Given the description of an element on the screen output the (x, y) to click on. 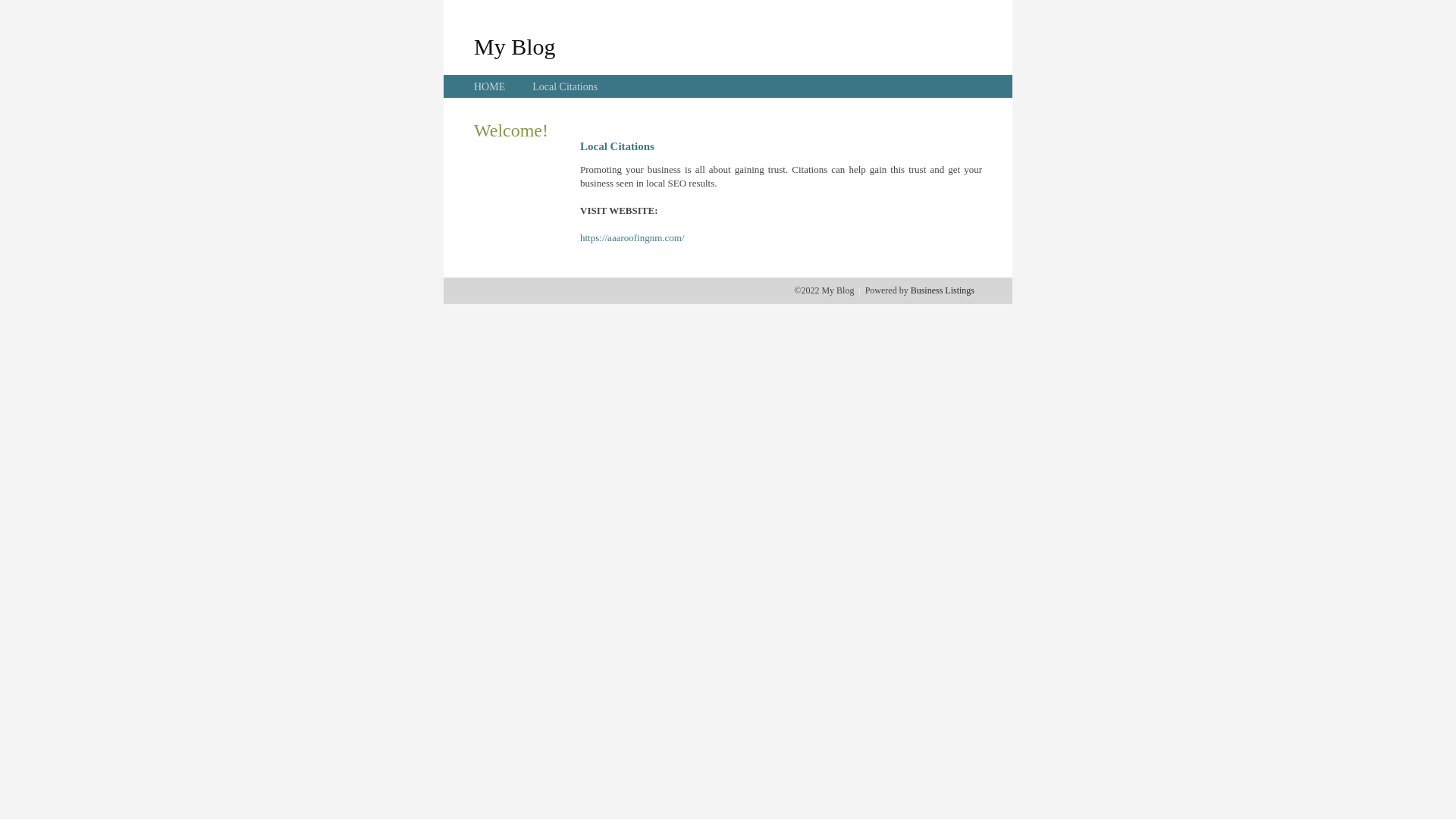
My Blog Element type: text (514, 46)
https://aaaroofingnm.com/ Element type: text (632, 237)
Business Listings Element type: text (942, 290)
Local Citations Element type: text (564, 86)
HOME Element type: text (489, 86)
